Given the description of an element on the screen output the (x, y) to click on. 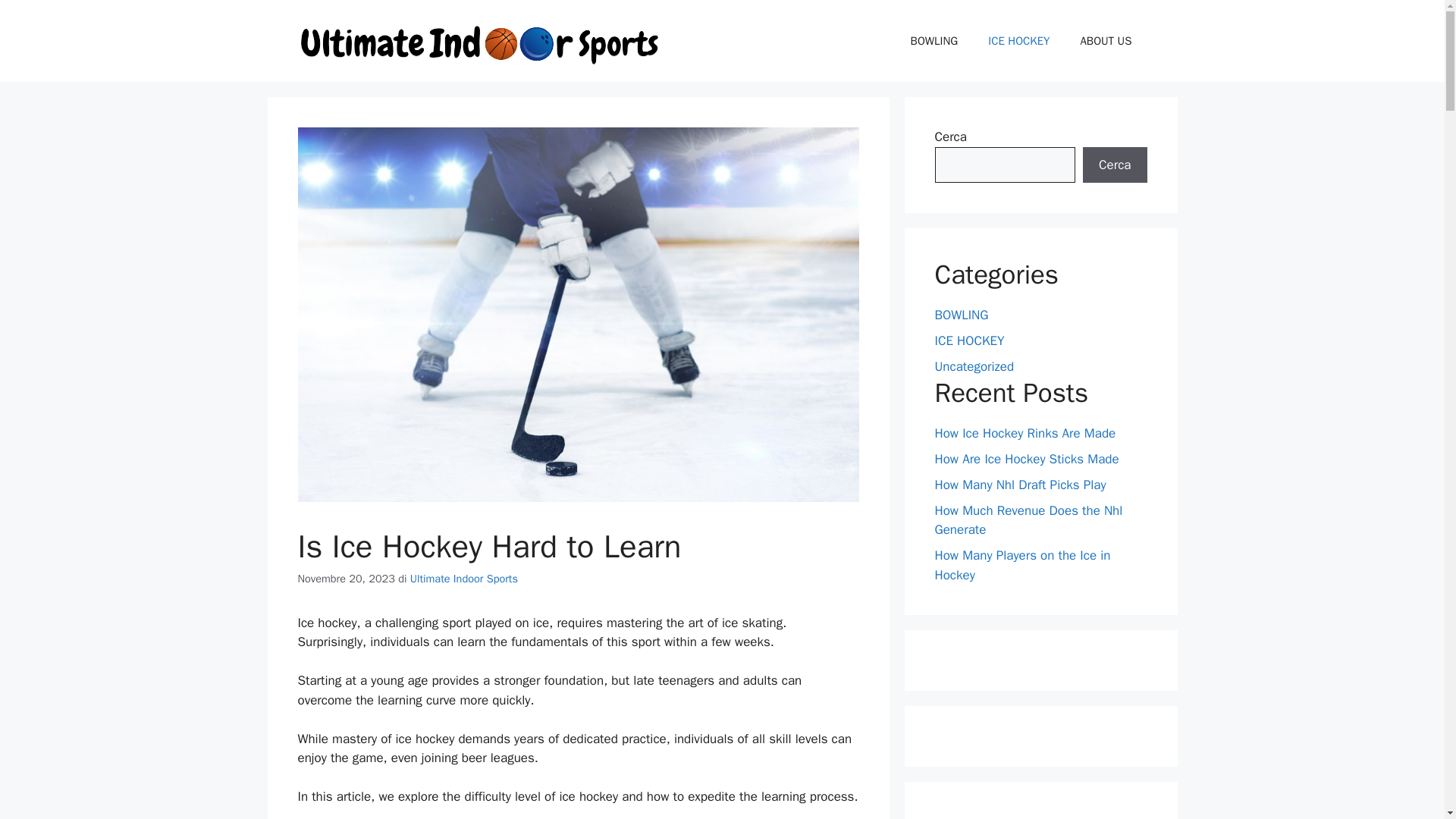
ICE HOCKEY (1018, 40)
Ultimate Indoor Sports (464, 578)
BOWLING (934, 40)
ABOUT US (1105, 40)
Visualizza tutti gli articoli di Ultimate Indoor Sports (464, 578)
Cerca (1115, 165)
